Given the description of an element on the screen output the (x, y) to click on. 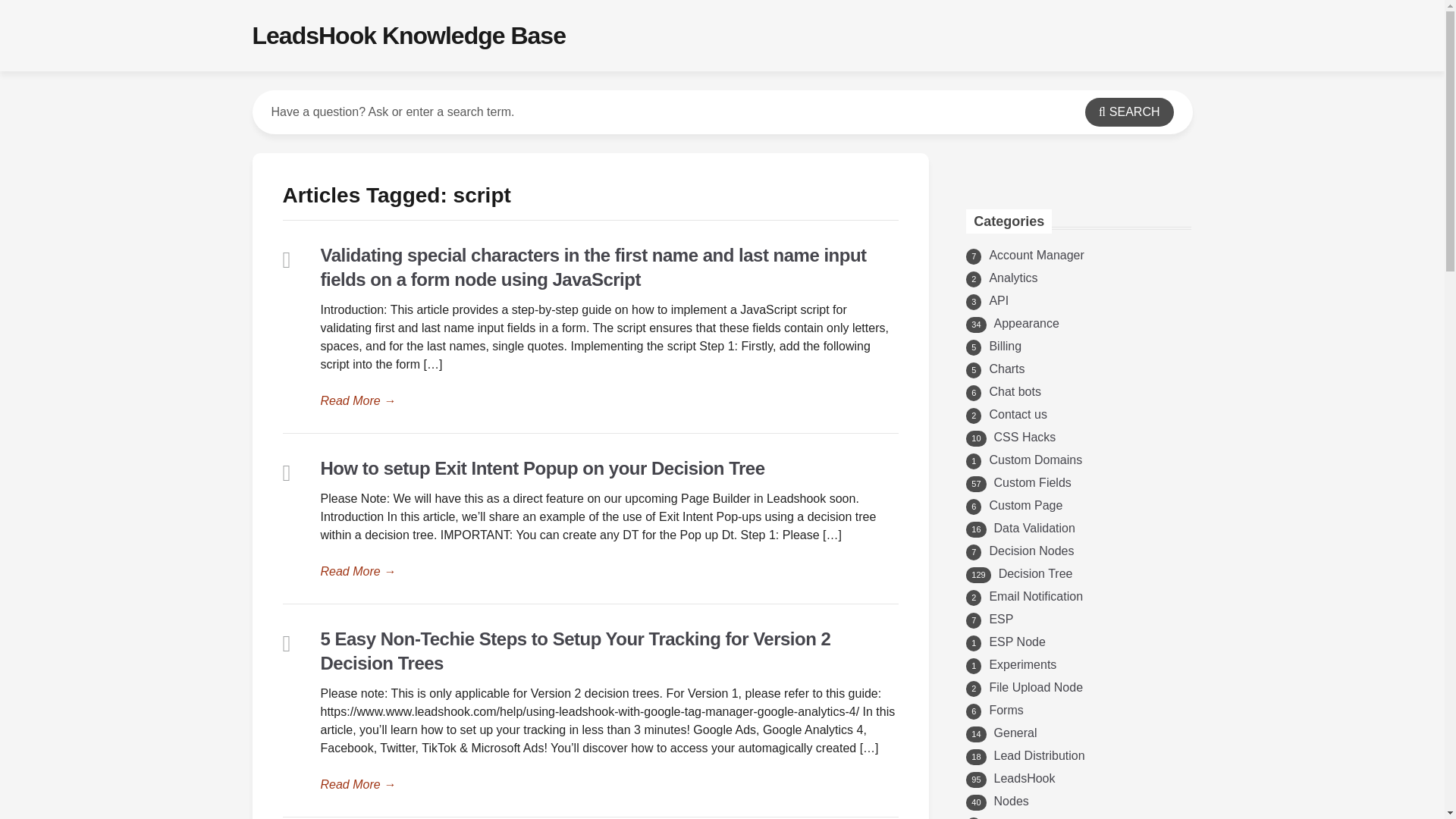
Account Manager (1035, 254)
LeadsHook Knowledge Base (407, 35)
Custom Fields (1032, 481)
Appearance (1026, 323)
Custom Page (1025, 504)
Custom Domains (1034, 459)
Decision Nodes (1031, 550)
Charts (1006, 368)
SEARCH (1128, 111)
